Given the description of an element on the screen output the (x, y) to click on. 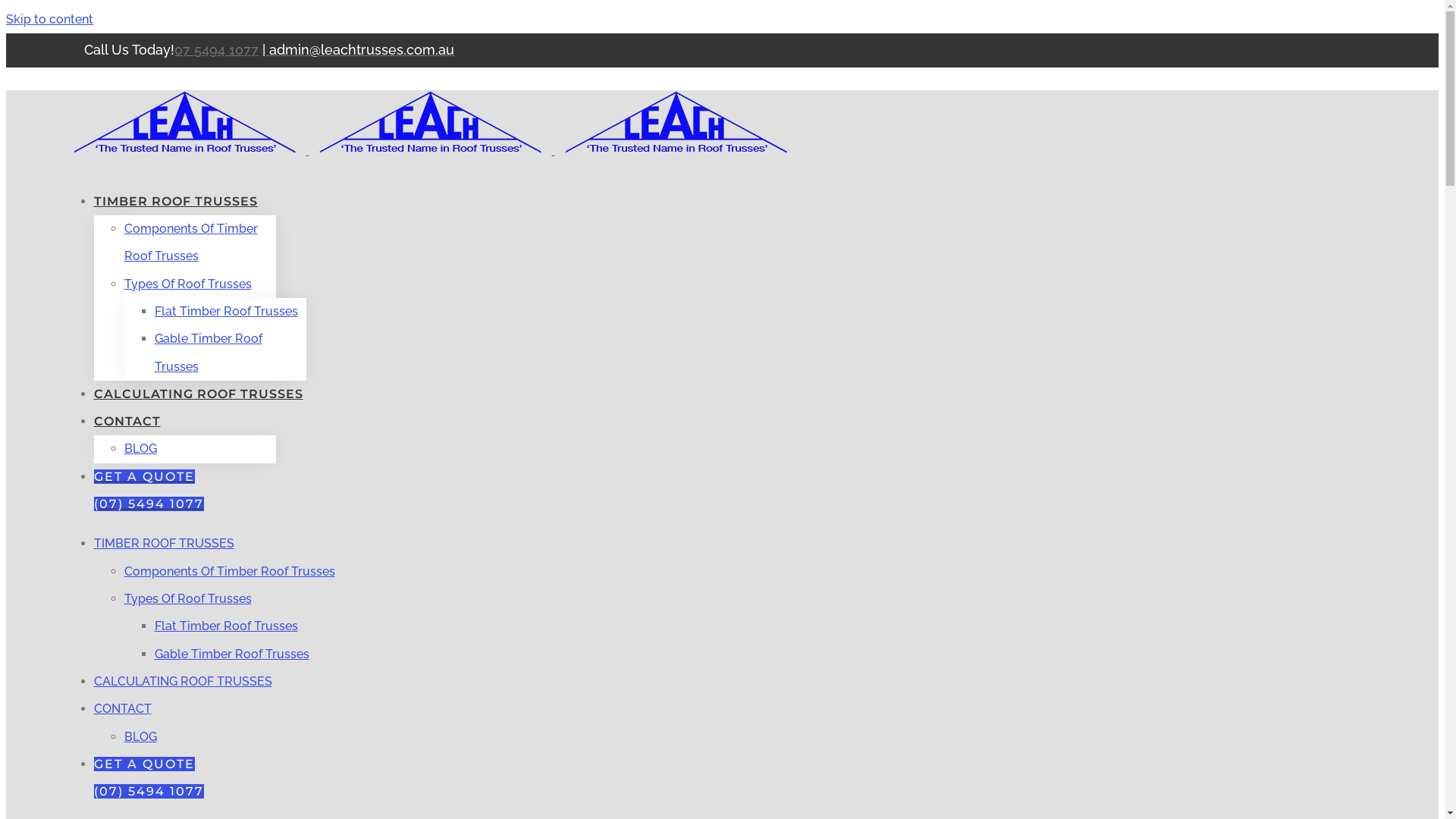
Gable Timber Roof Trusses Element type: text (208, 352)
GET A QUOTE
(07) 5494 1077 Element type: text (148, 777)
TIMBER ROOF TRUSSES Element type: text (164, 543)
Components Of Timber Roof Trusses Element type: text (190, 242)
CONTACT Element type: text (122, 708)
Types Of Roof Trusses Element type: text (187, 598)
Flat Timber Roof Trusses Element type: text (226, 311)
07 5494 1077 Element type: text (216, 49)
BLOG Element type: text (140, 736)
BLOG Element type: text (140, 448)
TIMBER ROOF TRUSSES Element type: text (175, 201)
Flat Timber Roof Trusses Element type: text (226, 625)
CALCULATING ROOF TRUSSES Element type: text (183, 681)
| admin@leachtrusses.com.au Element type: text (358, 50)
Skip to content Element type: text (49, 19)
Components Of Timber Roof Trusses Element type: text (229, 571)
GET A QUOTE
(07) 5494 1077 Element type: text (148, 490)
CONTACT Element type: text (127, 421)
Types Of Roof Trusses Element type: text (187, 284)
Gable Timber Roof Trusses Element type: text (231, 653)
CALCULATING ROOF TRUSSES Element type: text (198, 393)
